Given the description of an element on the screen output the (x, y) to click on. 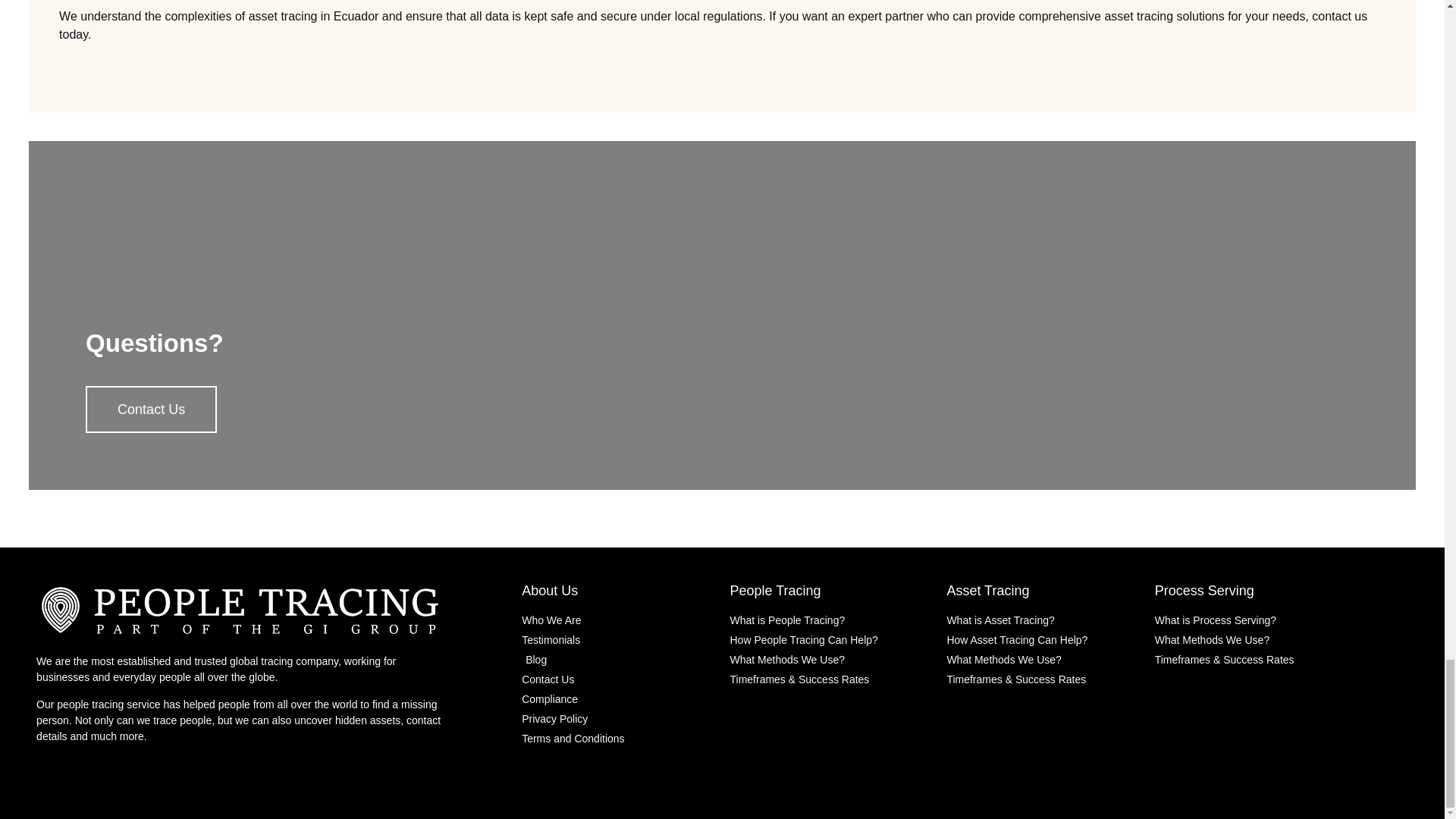
How Asset Tracing Can Help? (1042, 640)
Privacy Policy (617, 719)
What Methods We Use? (1251, 640)
What Methods We Use? (1042, 659)
Compliance (617, 699)
Terms and Conditions (617, 738)
How People Tracing Can Help? (830, 640)
Testimonials (617, 640)
Who We Are (617, 620)
What is People Tracing? (830, 620)
Contact Us (617, 679)
What Methods We Use? (830, 659)
What is Asset Tracing? (1042, 620)
Blog (617, 659)
Contact Us (150, 409)
